Given the description of an element on the screen output the (x, y) to click on. 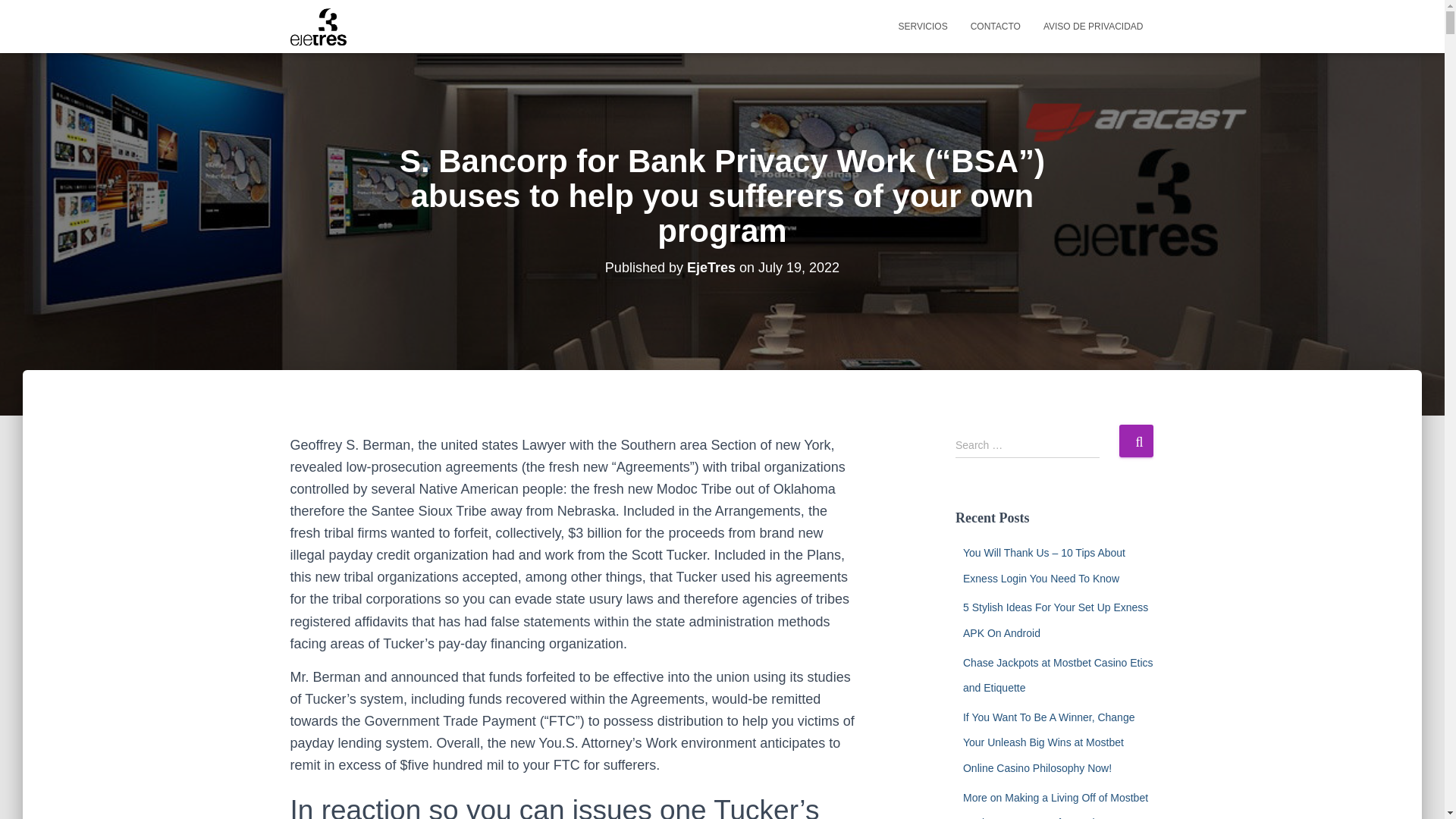
CONTACTO (995, 26)
Search (1136, 441)
Search (1136, 441)
5 Stylish Ideas For Your Set Up Exness APK On Android (1055, 620)
Aviso de Privacidad (1093, 26)
AVISO DE PRIVACIDAD (1093, 26)
SERVICIOS (922, 26)
Contacto (995, 26)
